Given the description of an element on the screen output the (x, y) to click on. 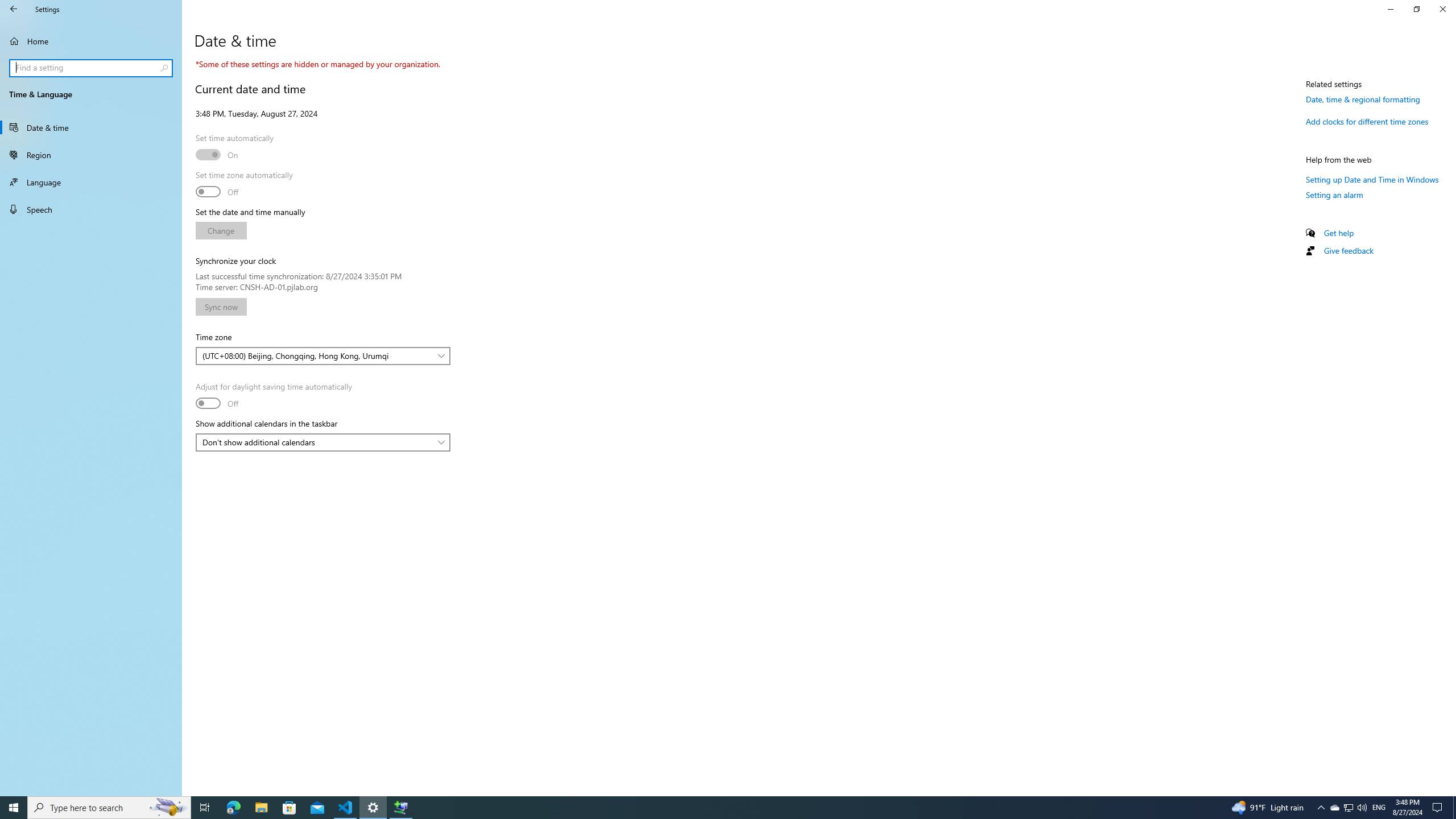
Sync now (221, 306)
Add clocks for different time zones (1367, 121)
Setting an alarm (1335, 194)
Set time automatically (216, 154)
Speech (91, 208)
